Given the description of an element on the screen output the (x, y) to click on. 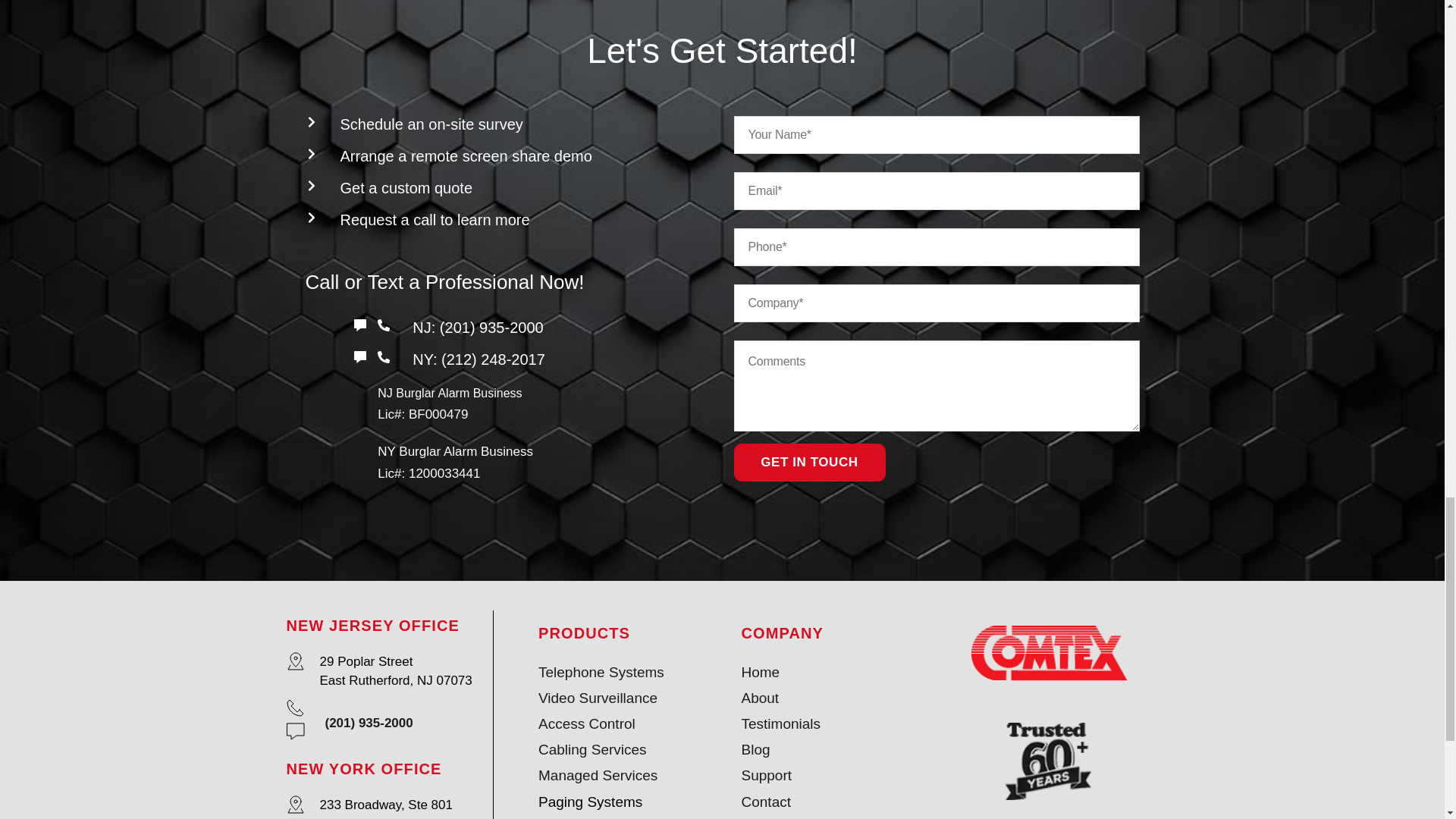
GET IN TOUCH (809, 462)
